Given the description of an element on the screen output the (x, y) to click on. 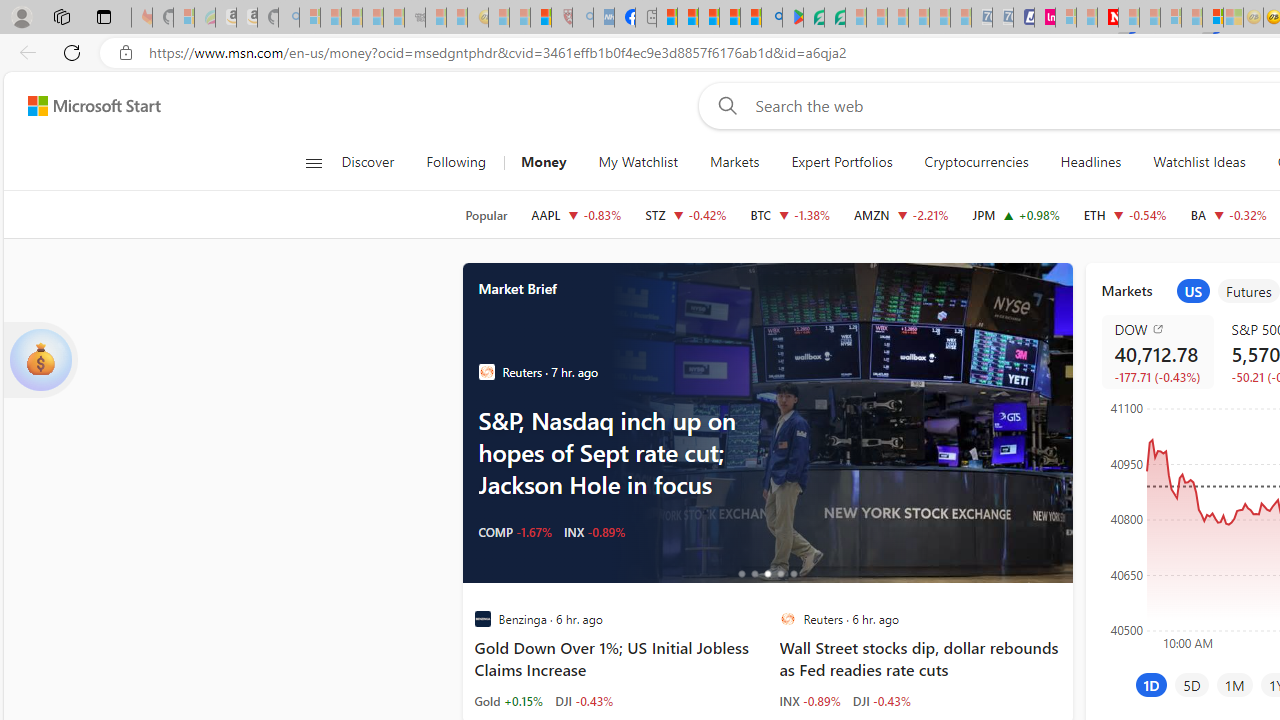
Headlines (1090, 162)
New Report Confirms 2023 Was Record Hot | Watch - Sleeping (394, 17)
Markets (733, 162)
Bluey: Let's Play! - Apps on Google Play (792, 17)
14 Common Myths Debunked By Scientific Facts - Sleeping (1149, 17)
Web search (724, 105)
Skip to footer (82, 105)
1M (1234, 684)
Headlines (1090, 162)
